Given the description of an element on the screen output the (x, y) to click on. 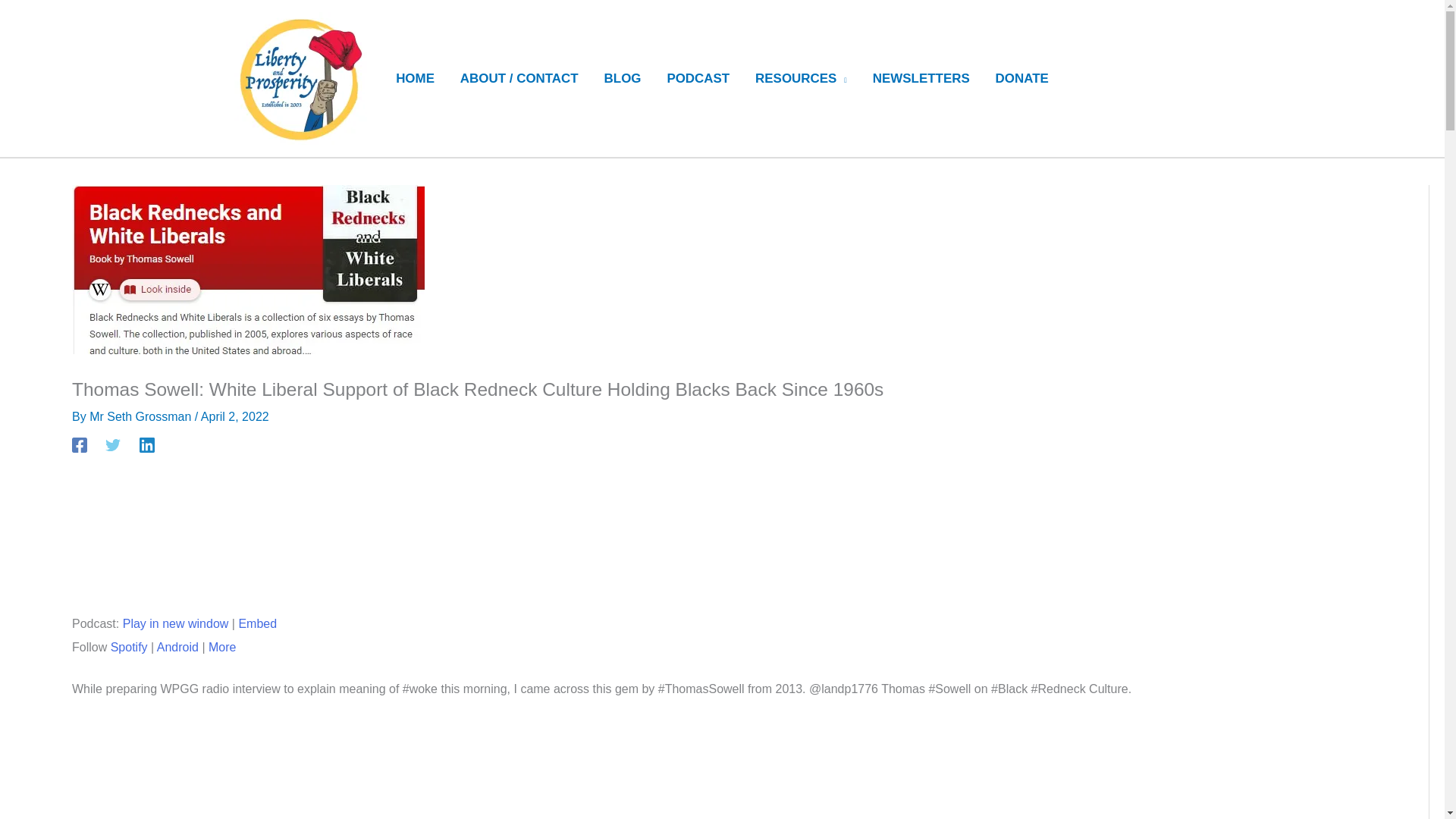
BLOG (622, 78)
Play in new window (175, 623)
PODCAST (697, 78)
Embed (257, 623)
Android (177, 646)
Subscribe on Spotify (129, 646)
Play in new window (175, 623)
More (221, 646)
More (221, 646)
DONATE (1021, 78)
HOME (414, 78)
Mr Seth Grossman (141, 416)
View all posts by Mr Seth Grossman (141, 416)
Embed (257, 623)
Subscribe on Android (177, 646)
